Given the description of an element on the screen output the (x, y) to click on. 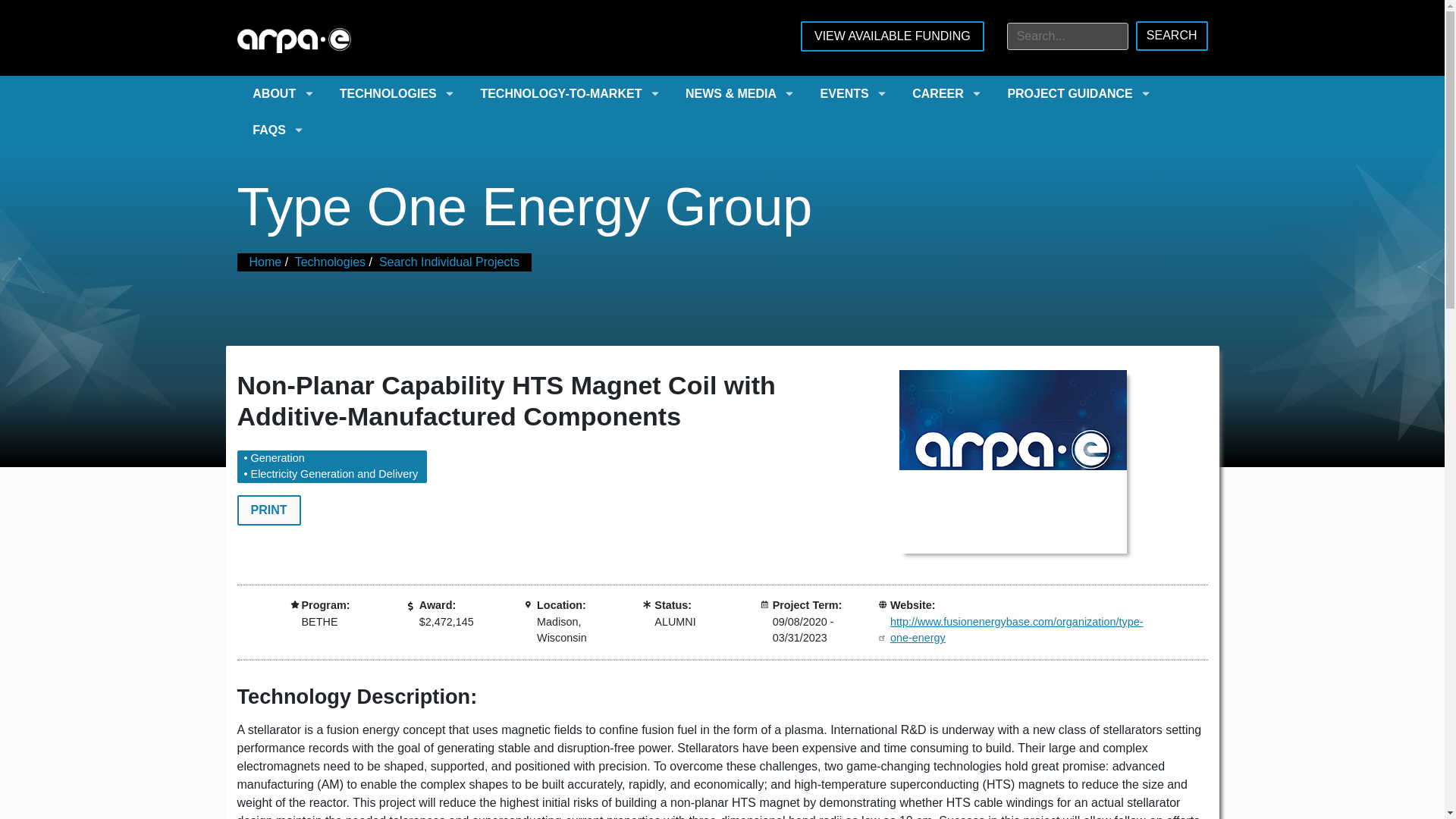
Search (1171, 35)
VIEW AVAILABLE FUNDING (892, 36)
Search (1171, 35)
Print (267, 510)
